Given the description of an element on the screen output the (x, y) to click on. 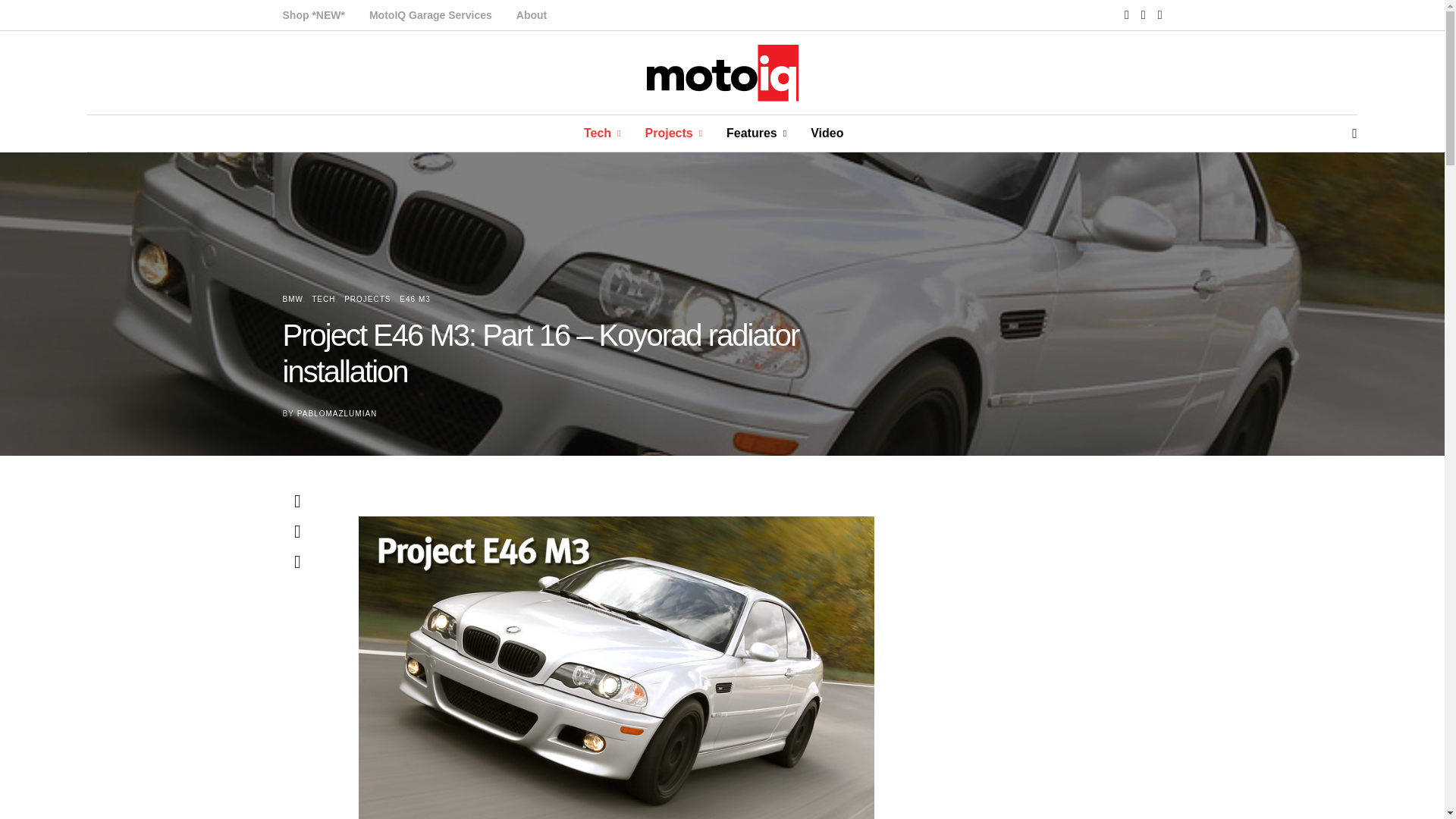
View all posts by PabloMazlumian (337, 413)
